Given the description of an element on the screen output the (x, y) to click on. 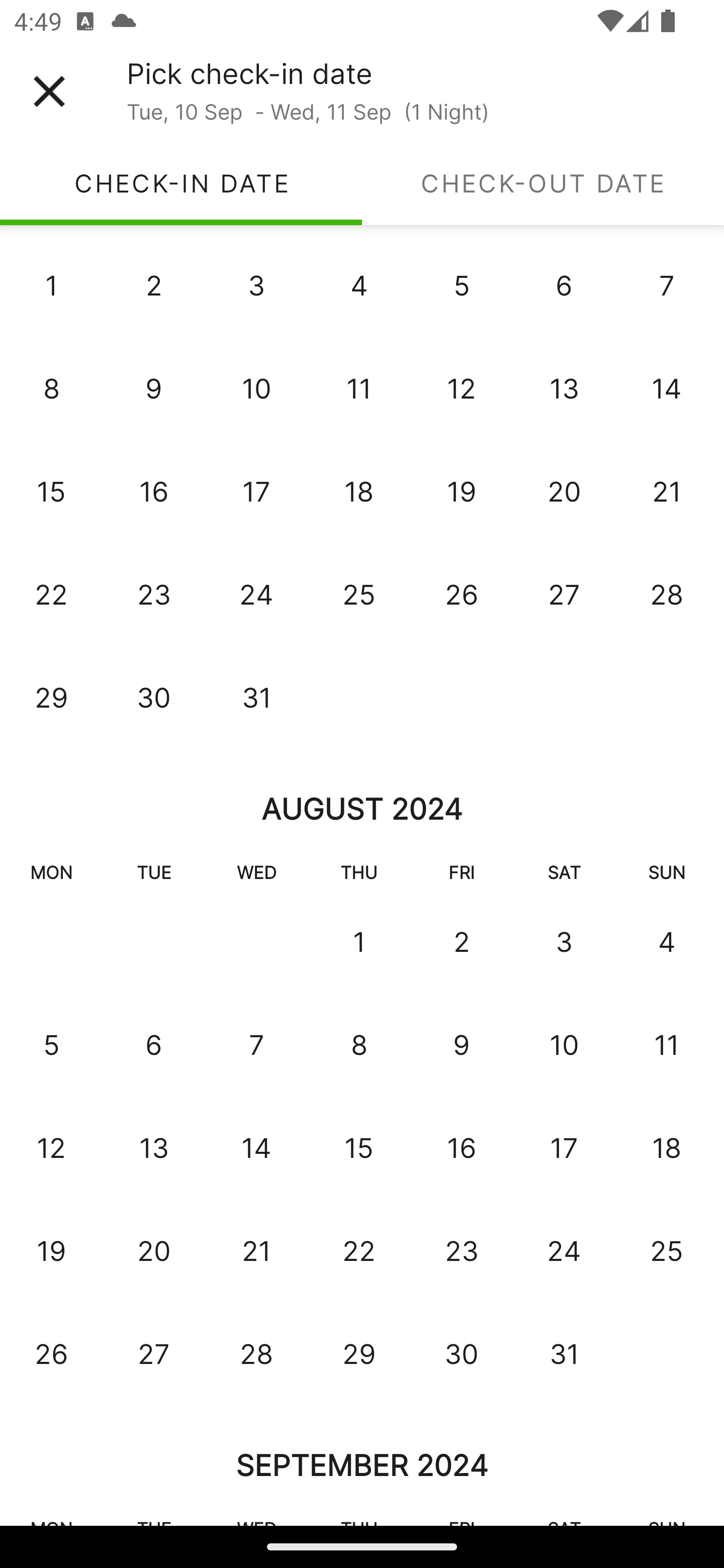
Check-out Date CHECK-OUT DATE (543, 183)
